Given the description of an element on the screen output the (x, y) to click on. 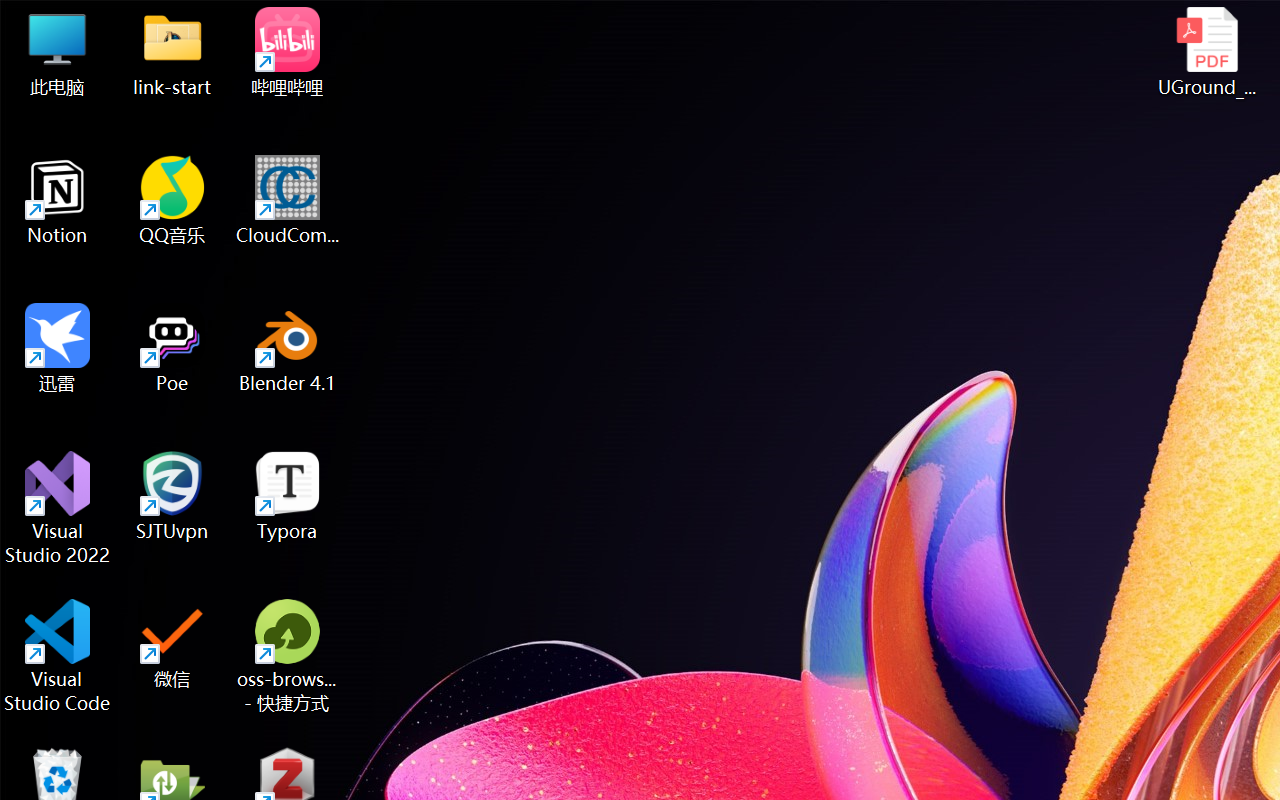
Blender 4.1 (287, 348)
Visual Studio 2022 (57, 508)
UGround_paper.pdf (1206, 52)
SJTUvpn (172, 496)
Typora (287, 496)
CloudCompare (287, 200)
Visual Studio Code (57, 656)
